Given the description of an element on the screen output the (x, y) to click on. 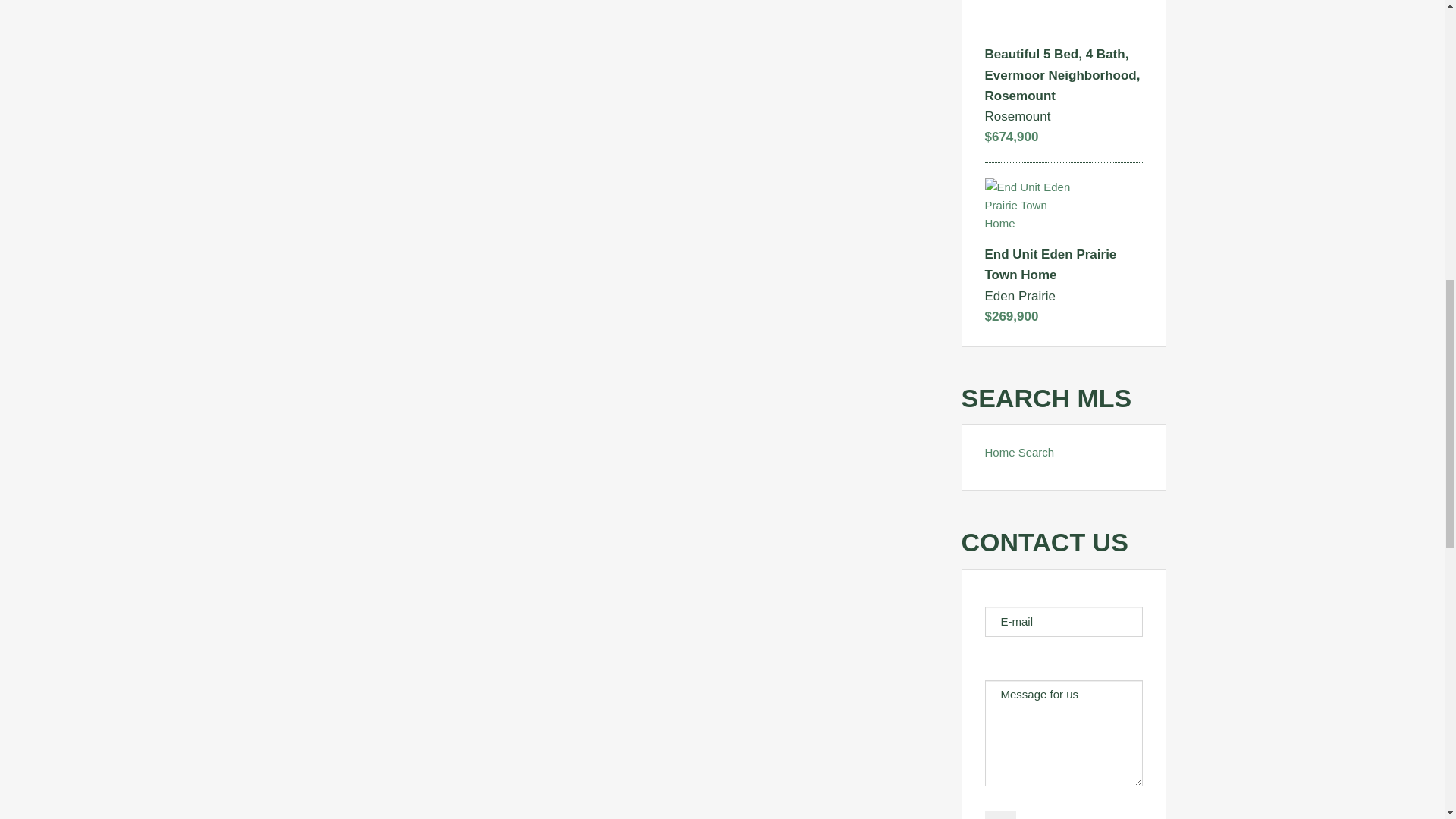
Send (1000, 815)
